Given the description of an element on the screen output the (x, y) to click on. 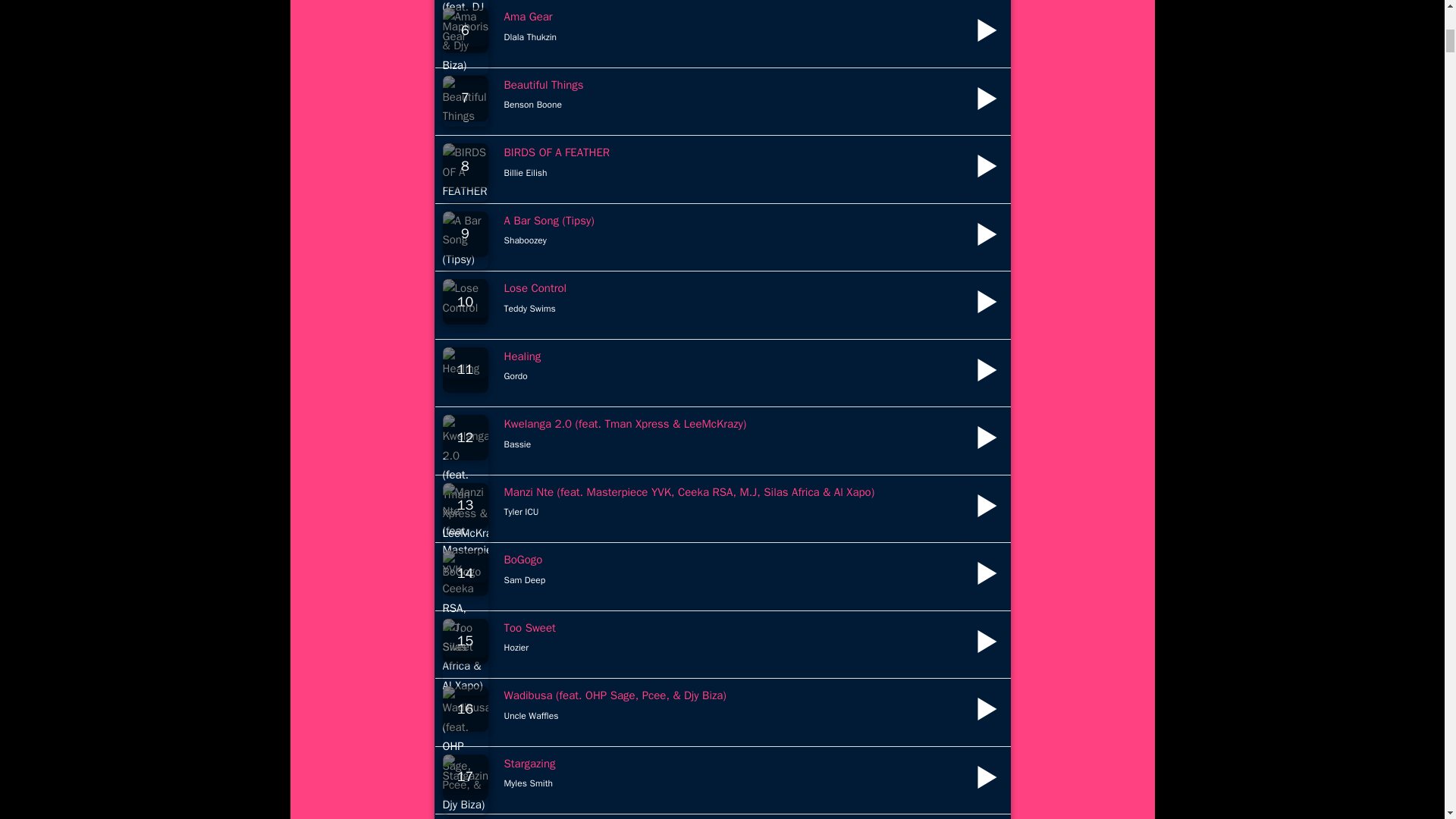
Dlala Thukzin (529, 36)
Lose Control (534, 287)
Ama Gear (527, 16)
Gordo (515, 376)
Teddy Swims (528, 307)
Benson Boone (531, 104)
BIRDS OF A FEATHER (556, 151)
Beautiful Things (543, 83)
Healing (521, 355)
Billie Eilish (525, 173)
Shaboozey (524, 240)
